Given the description of an element on the screen output the (x, y) to click on. 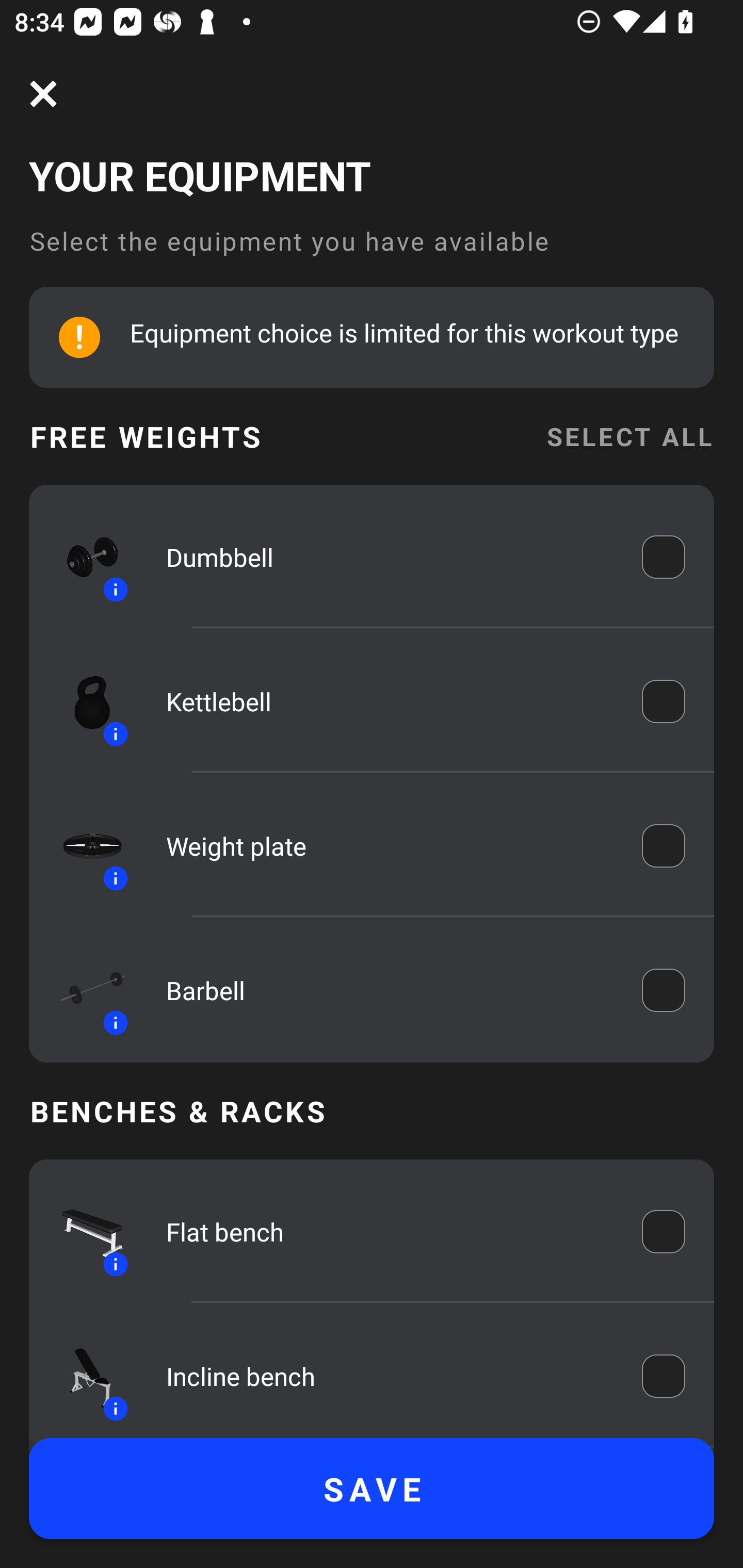
Navigation icon (43, 93)
SELECT ALL (629, 436)
Equipment icon Information icon (82, 557)
Dumbbell (389, 557)
Equipment icon Information icon (82, 701)
Kettlebell (389, 701)
Equipment icon Information icon (82, 845)
Weight plate (389, 845)
Equipment icon Information icon (82, 990)
Barbell (389, 990)
Equipment icon Information icon (82, 1231)
Flat bench (389, 1231)
Equipment icon Information icon (82, 1375)
Incline bench (389, 1375)
SAVE (371, 1488)
